Given the description of an element on the screen output the (x, y) to click on. 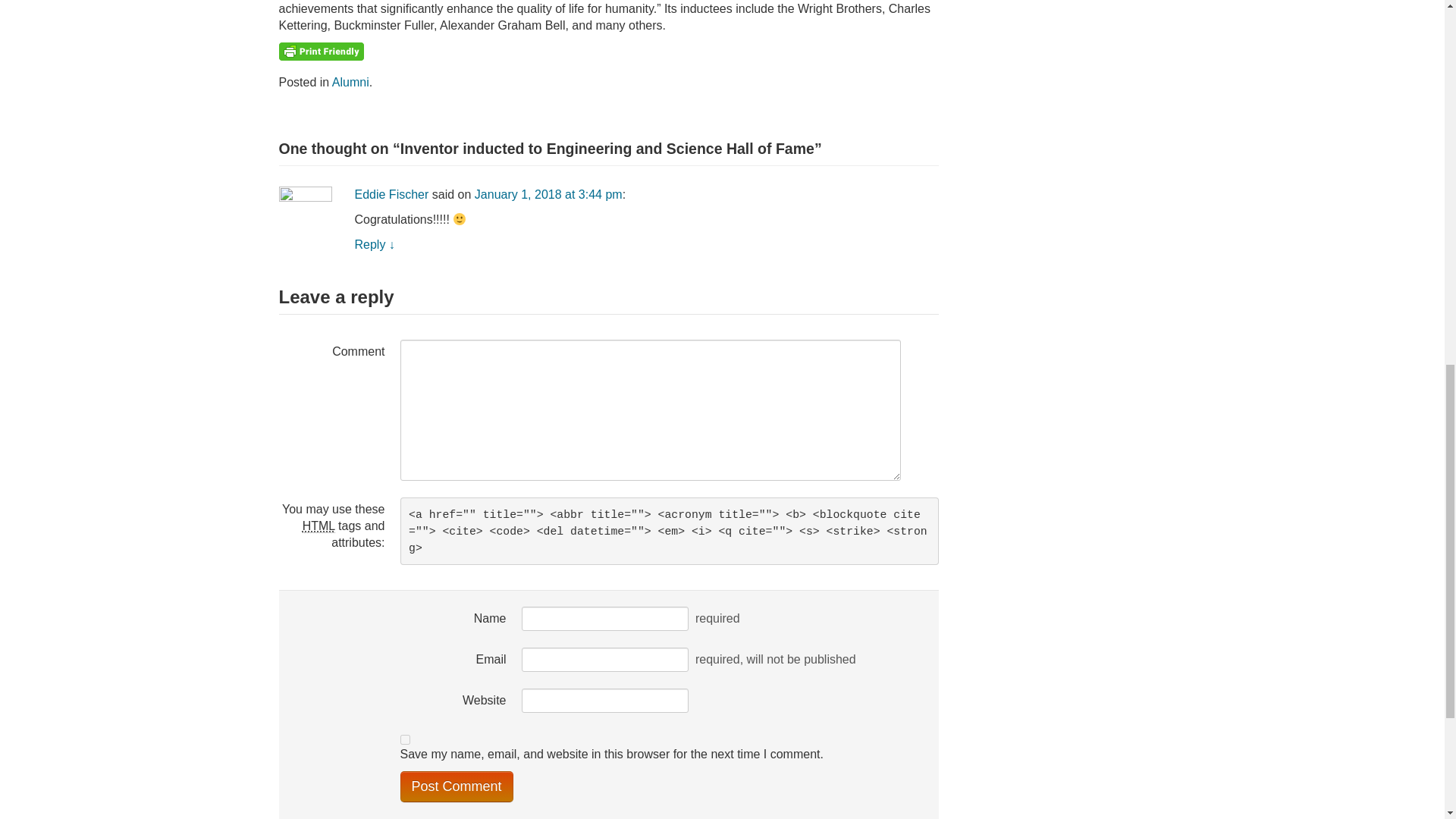
Post Comment (456, 786)
HyperText Markup Language (318, 526)
yes (405, 739)
January 1, 2018 at 3:44 pm (548, 194)
Eddie Fischer (392, 194)
Alumni (350, 82)
Post Comment (456, 786)
